Given the description of an element on the screen output the (x, y) to click on. 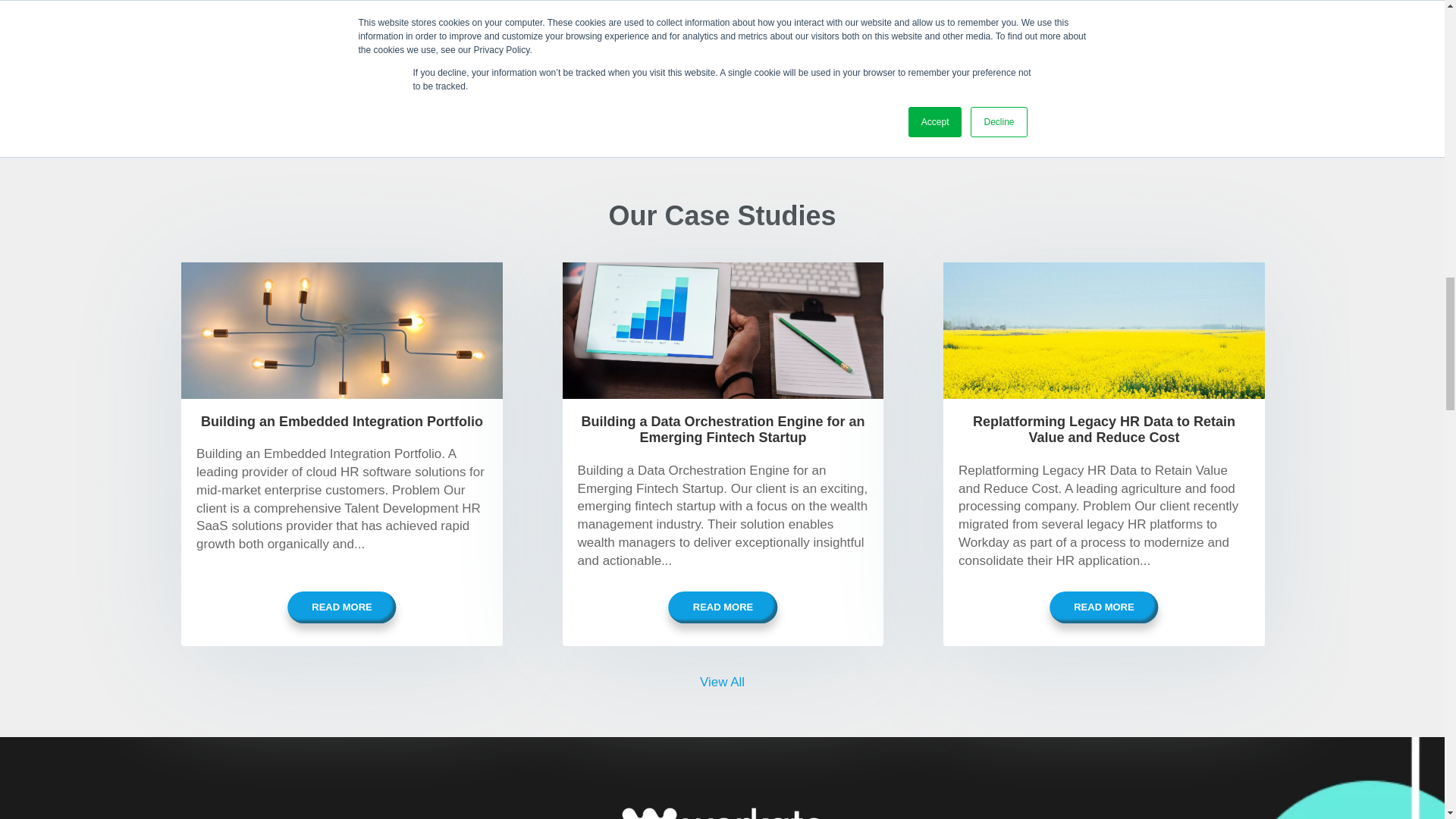
workato-gold-partner-white (721, 796)
